Given the description of an element on the screen output the (x, y) to click on. 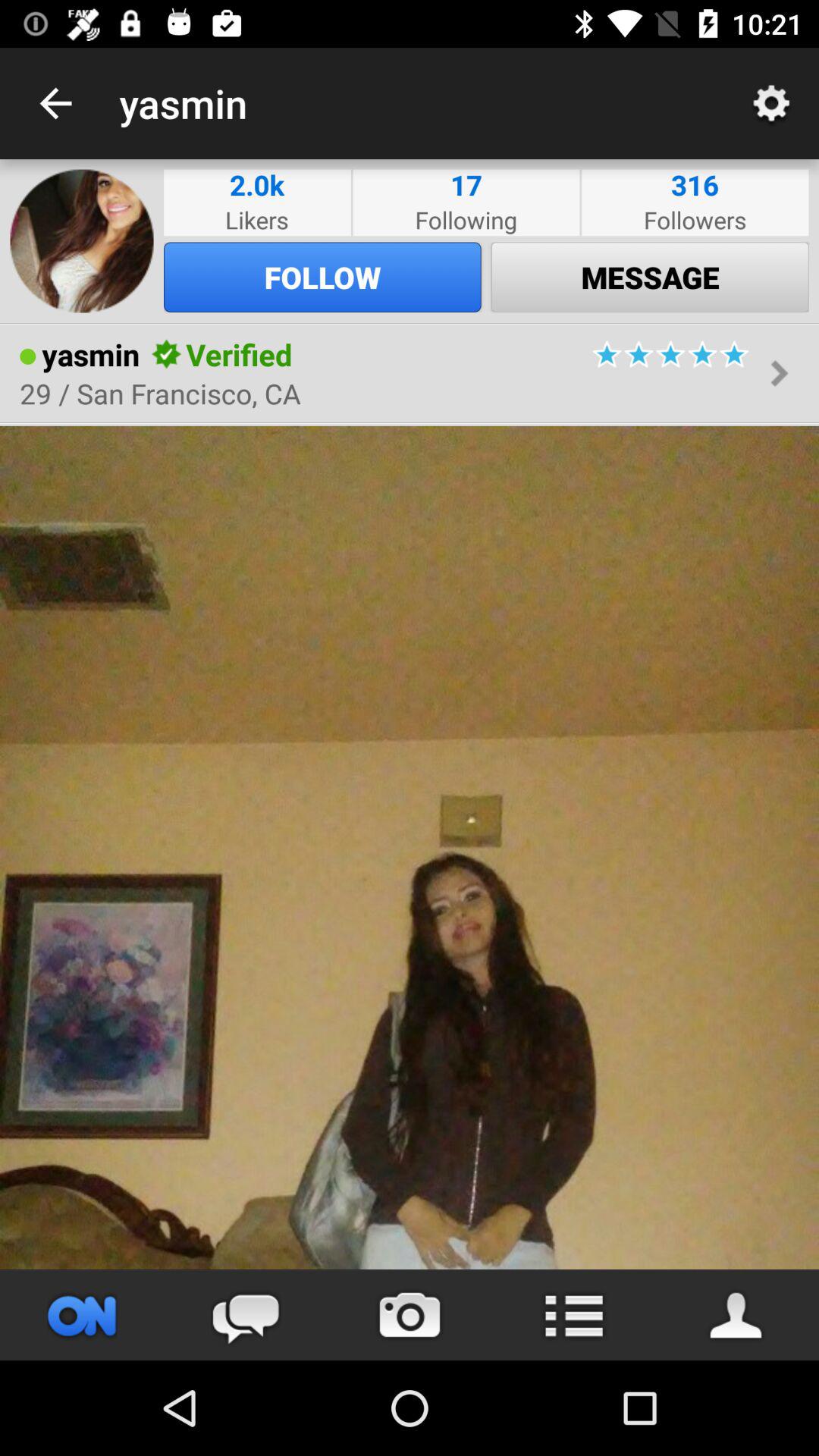
tap the item next to the verified item (166, 354)
